Given the description of an element on the screen output the (x, y) to click on. 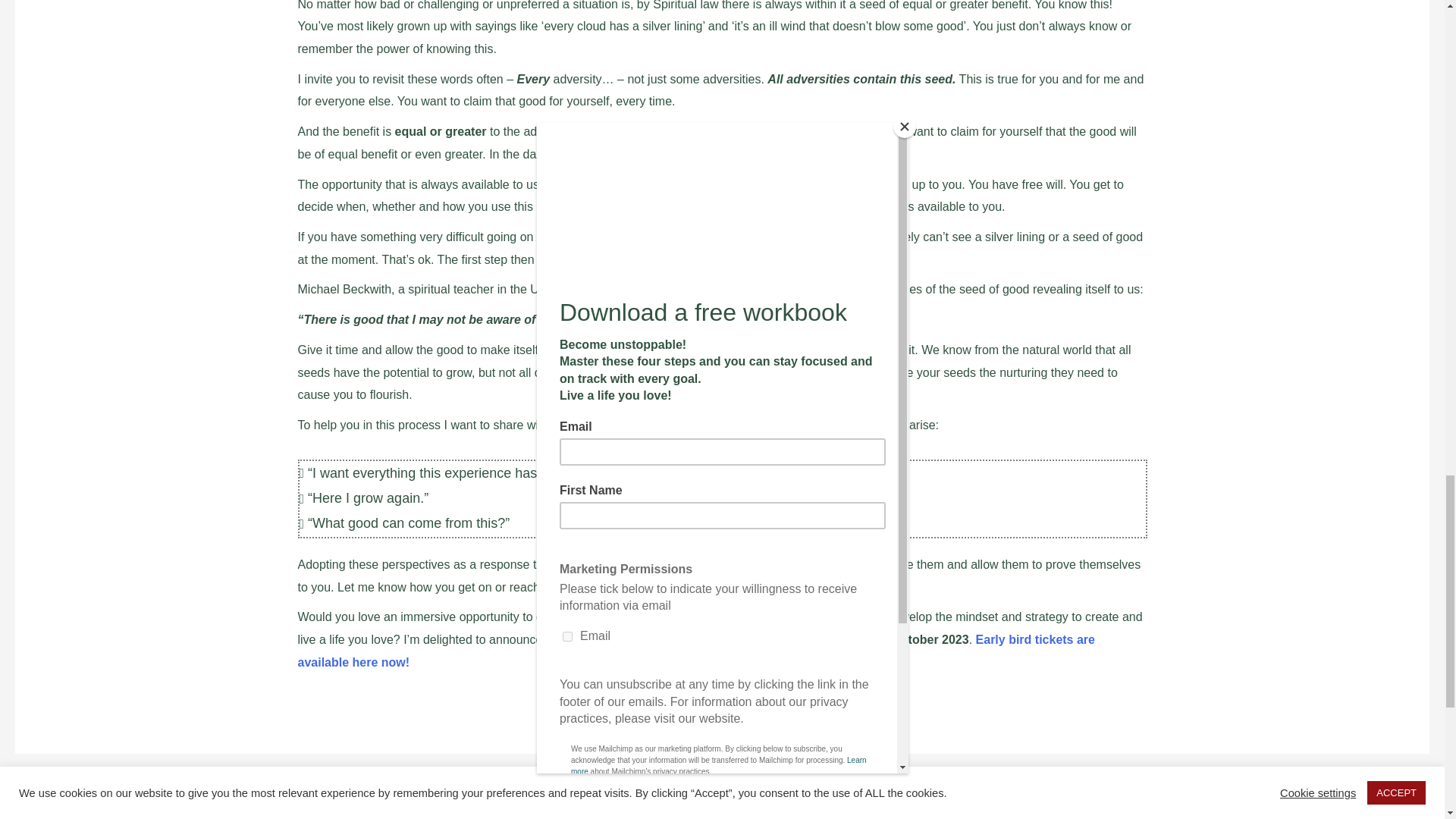
Early bird tickets are available here now! (695, 651)
The Power of Inversion (61, 793)
Why You Need To Think Like a Farmer (1393, 793)
